Given the description of an element on the screen output the (x, y) to click on. 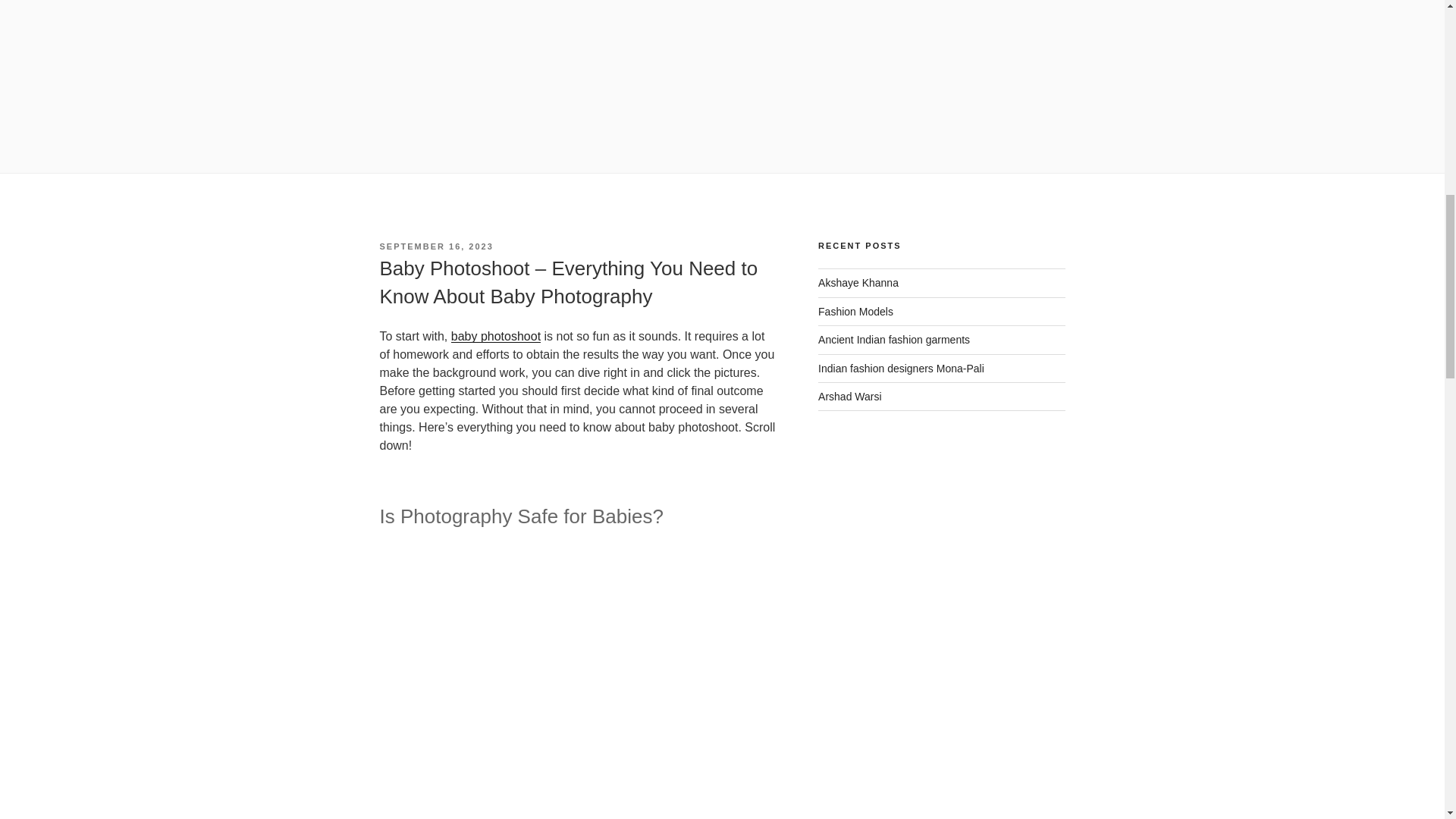
Ancient Indian fashion garments (893, 339)
Akshaye Khanna (858, 282)
Indian fashion designers Mona-Pali (901, 368)
Arshad Warsi (850, 396)
Fashion Models (855, 311)
baby photoshoot (495, 336)
SEPTEMBER 16, 2023 (435, 245)
